Given the description of an element on the screen output the (x, y) to click on. 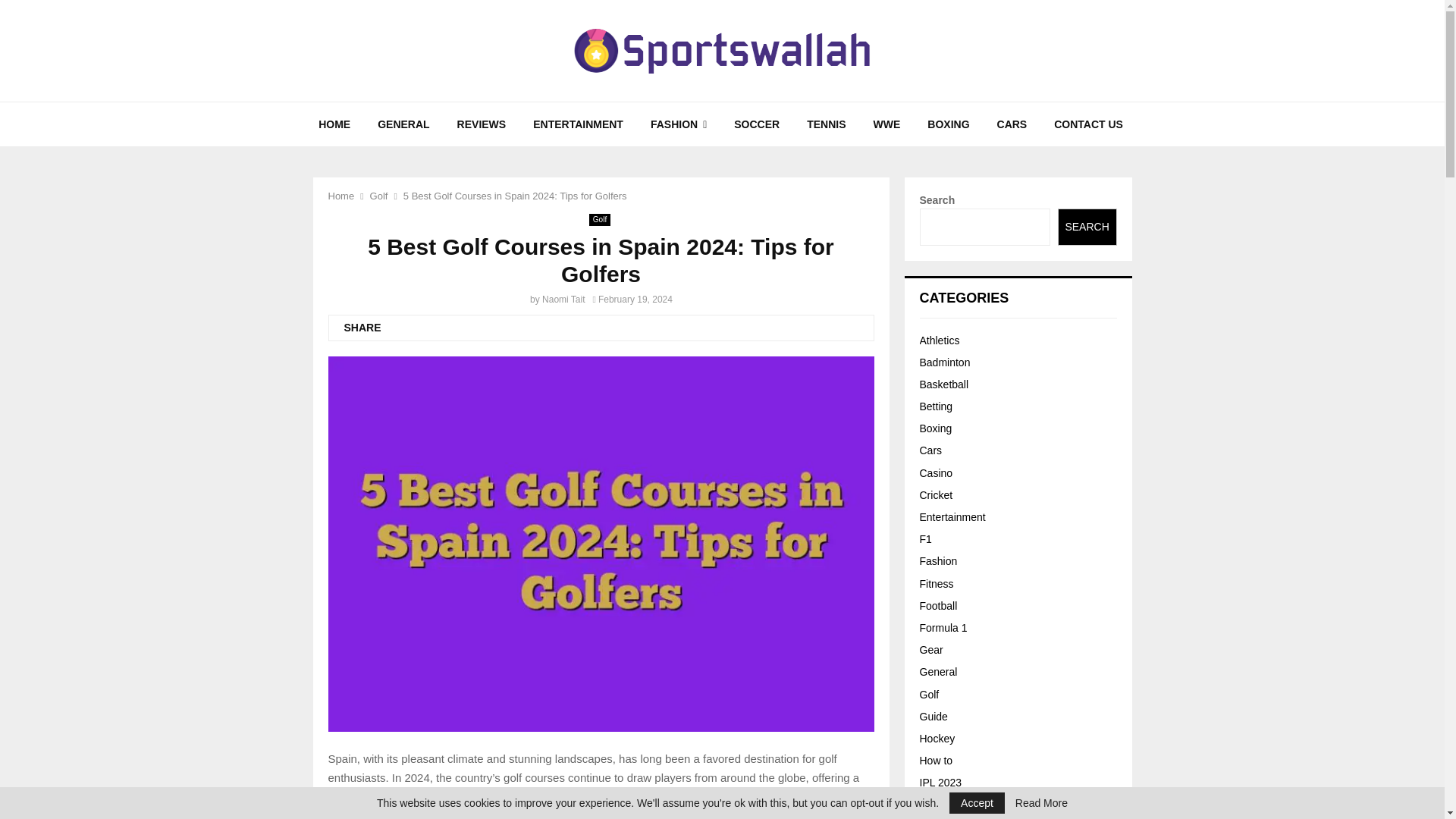
GENERAL (403, 124)
Golf (378, 195)
Golf (599, 219)
CONTACT US (1089, 124)
Naomi Tait (563, 299)
ENTERTAINMENT (578, 124)
Home (340, 195)
TENNIS (826, 124)
WWE (887, 124)
FASHION (678, 124)
HOME (334, 124)
REVIEWS (481, 124)
BOXING (948, 124)
CARS (1012, 124)
SOCCER (756, 124)
